Given the description of an element on the screen output the (x, y) to click on. 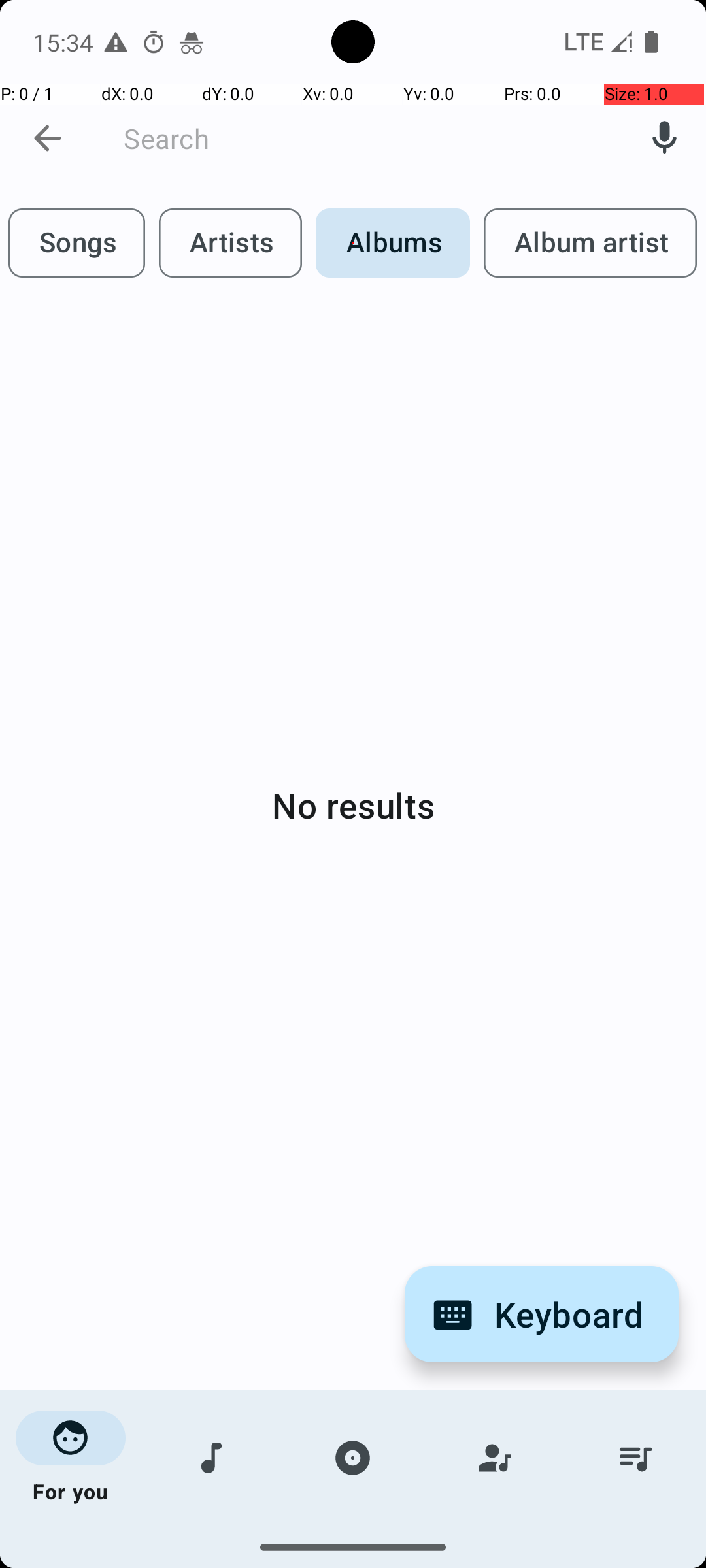
No results Element type: android.widget.TextView (352, 805)
Keyboard Element type: android.widget.Button (541, 1314)
For you Element type: android.widget.FrameLayout (70, 1457)
Songs Element type: android.widget.FrameLayout (211, 1457)
Albums Element type: android.widget.FrameLayout (352, 1457)
Artists Element type: android.widget.FrameLayout (493, 1457)
Playlists Element type: android.widget.FrameLayout (635, 1457)
Album artist Element type: android.widget.RadioButton (589, 242)
